Given the description of an element on the screen output the (x, y) to click on. 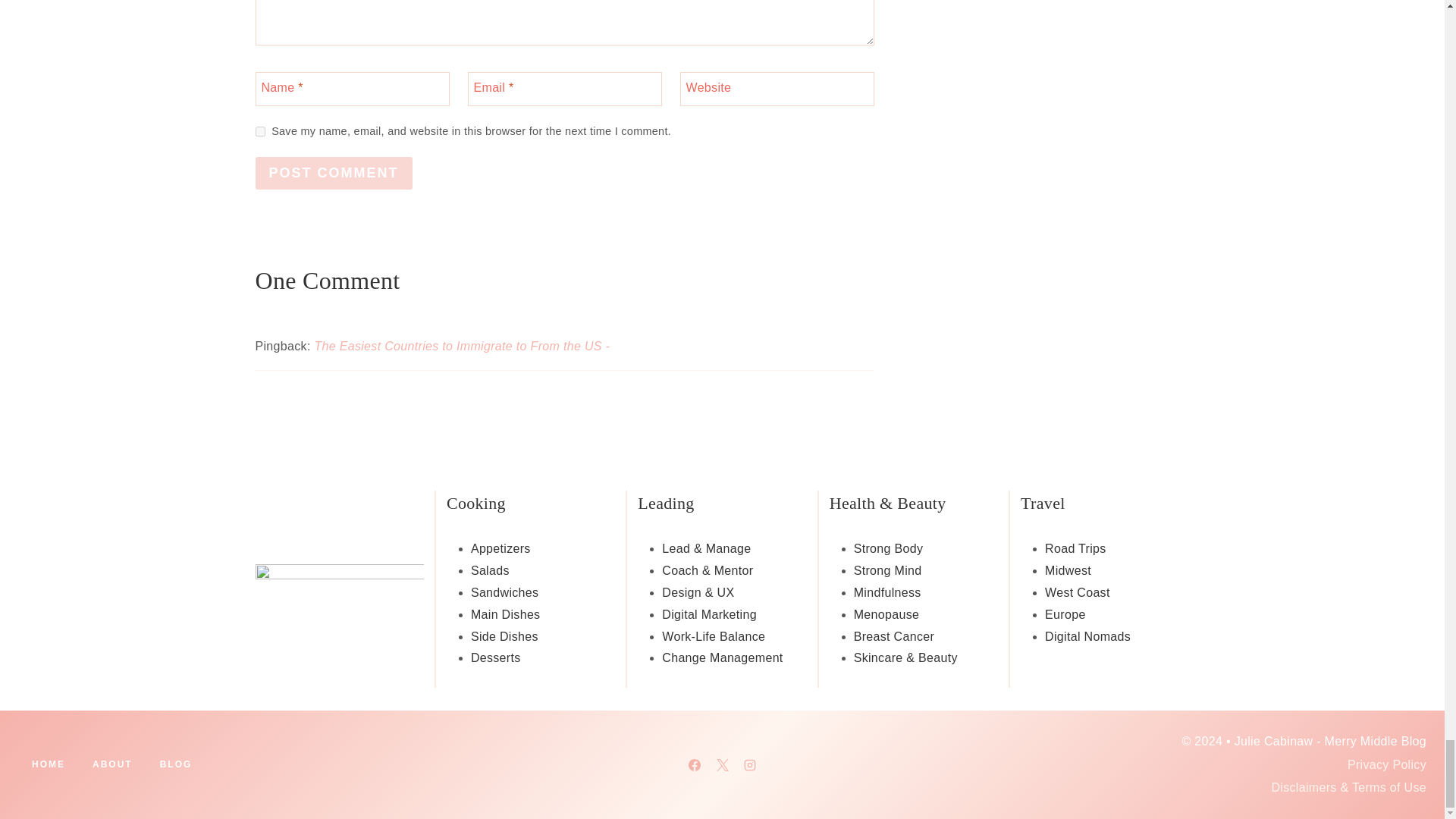
Post Comment (333, 173)
yes (259, 131)
